Given the description of an element on the screen output the (x, y) to click on. 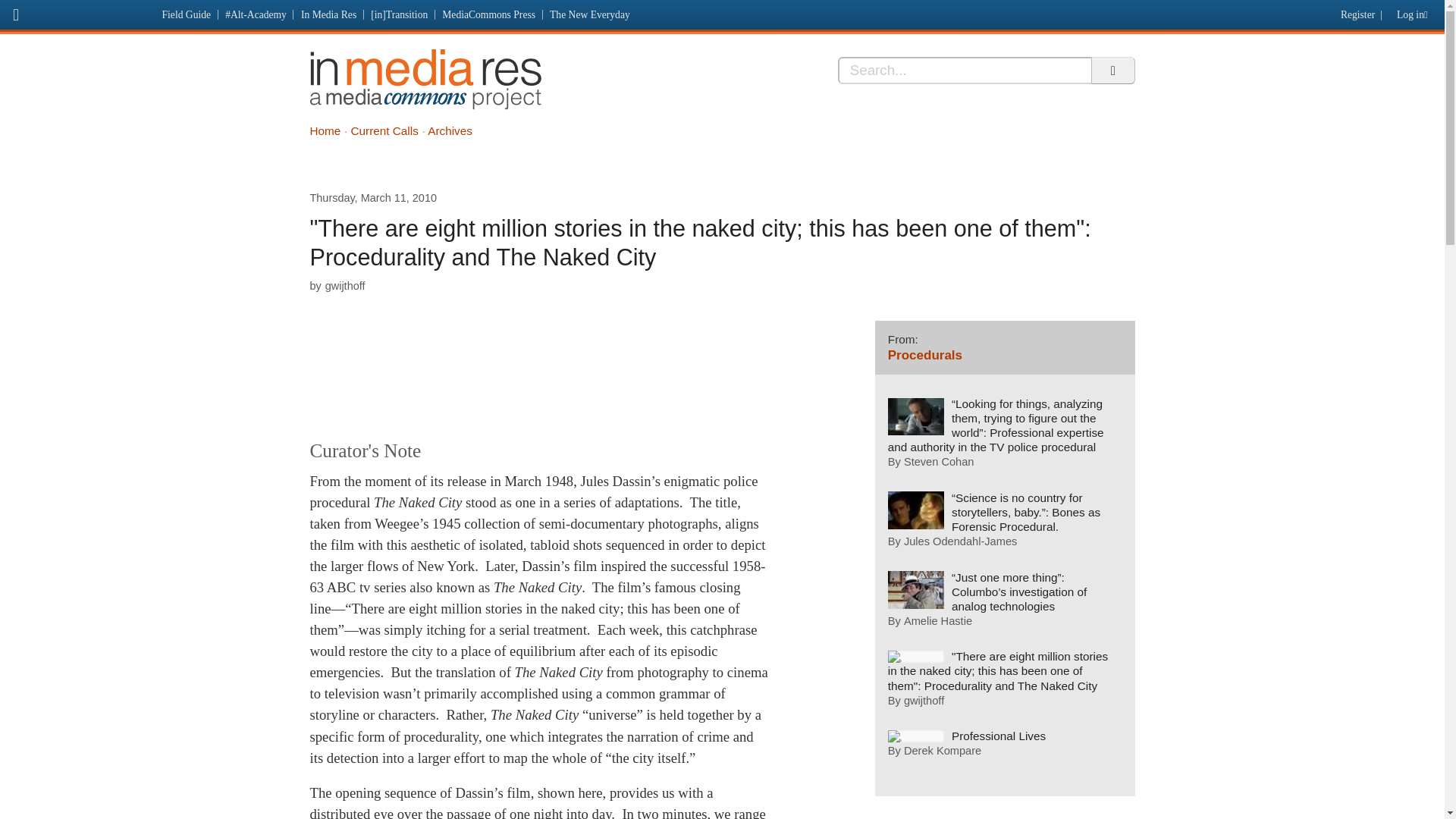
Enter the terms you wish to search for. (965, 70)
Archives (449, 130)
Current Calls (384, 130)
In Media Res (328, 14)
MediaCommons Press (489, 14)
Register (1355, 11)
Home (324, 130)
Field Guide (186, 14)
In Media Res (424, 79)
Log in (1414, 11)
The New Everyday (590, 14)
Front page (77, 11)
gwijthoff (344, 285)
